Given the description of an element on the screen output the (x, y) to click on. 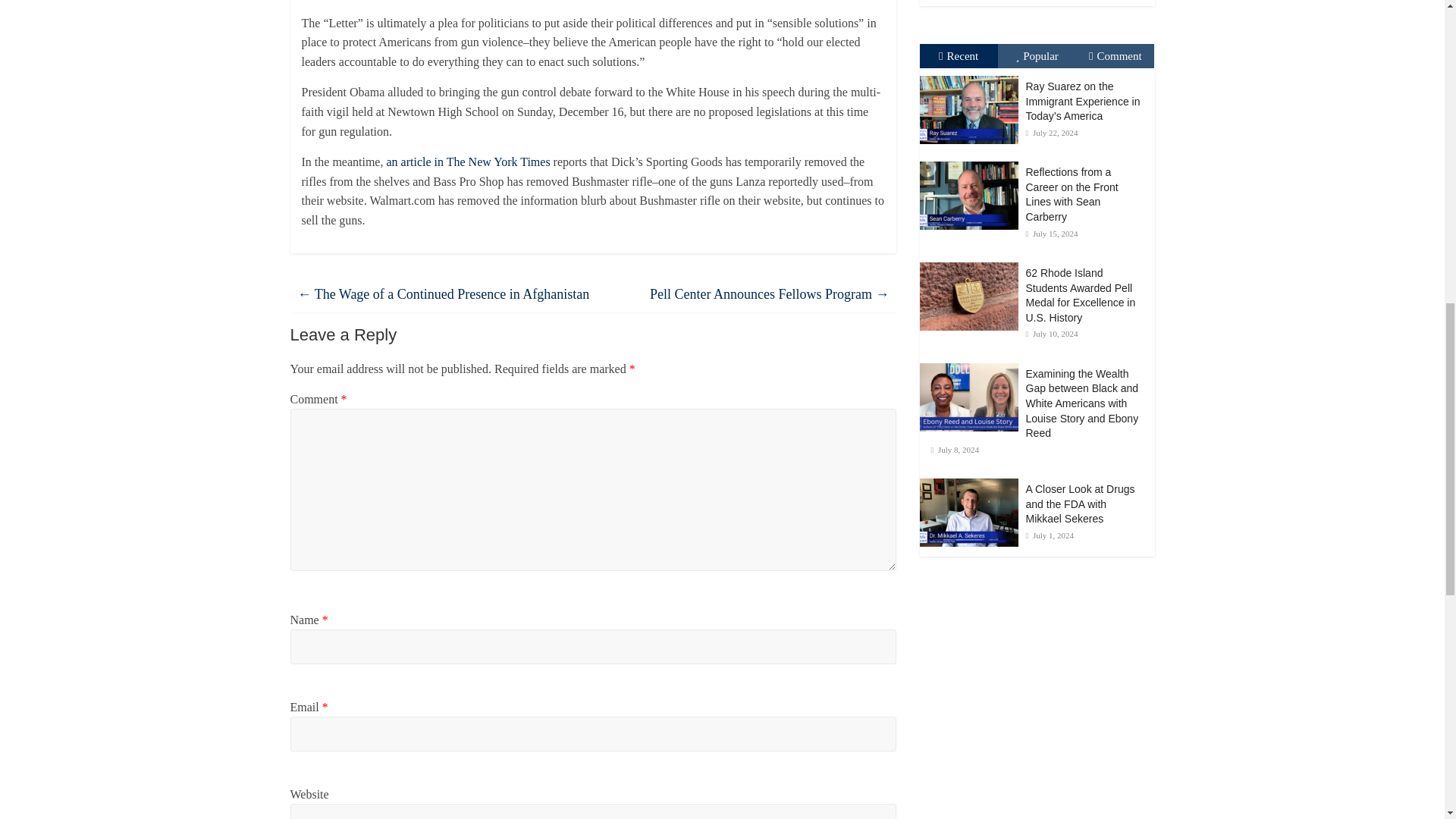
an article in The New York Times (469, 161)
